Given the description of an element on the screen output the (x, y) to click on. 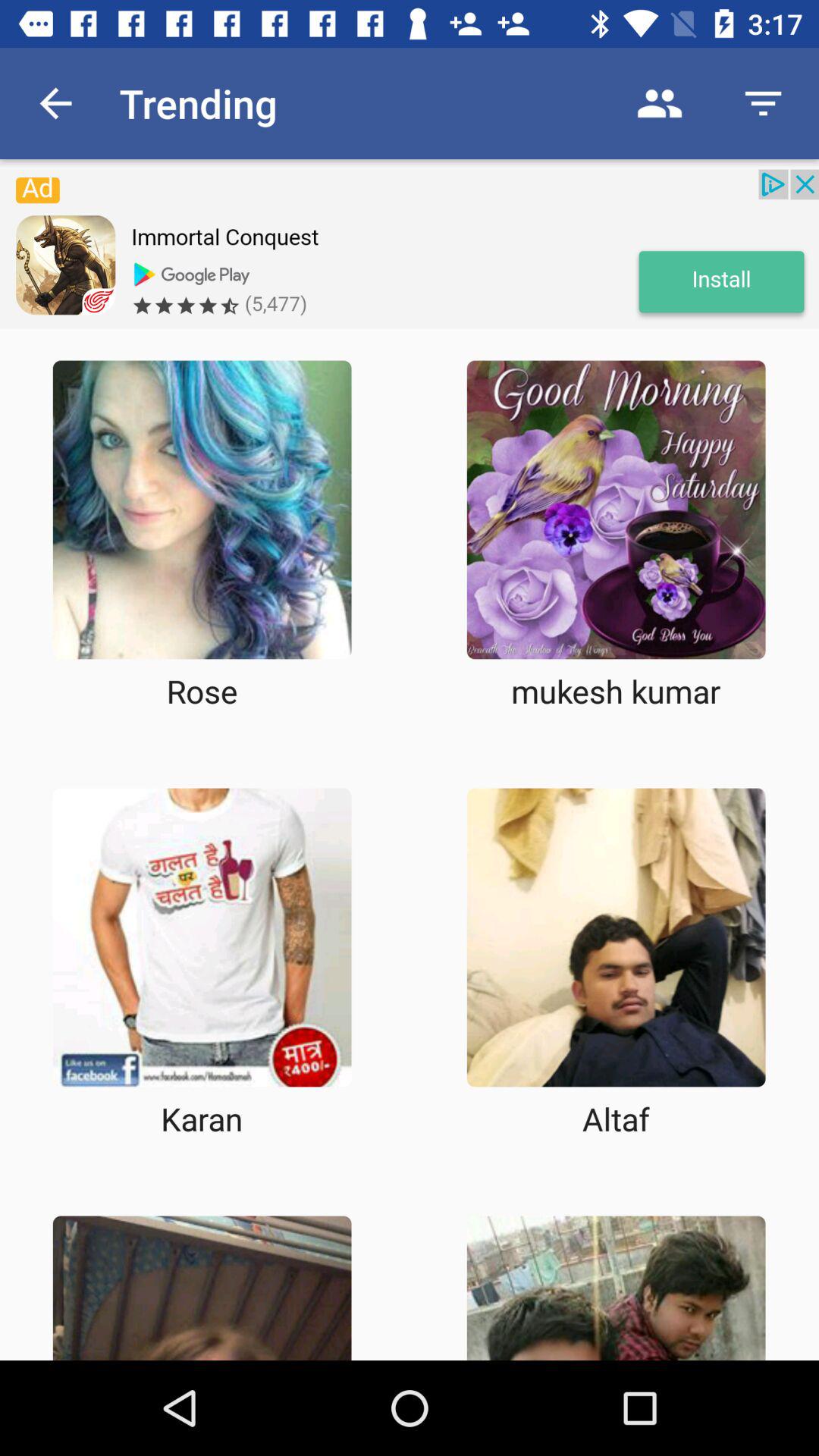
picture selecting (615, 1287)
